Given the description of an element on the screen output the (x, y) to click on. 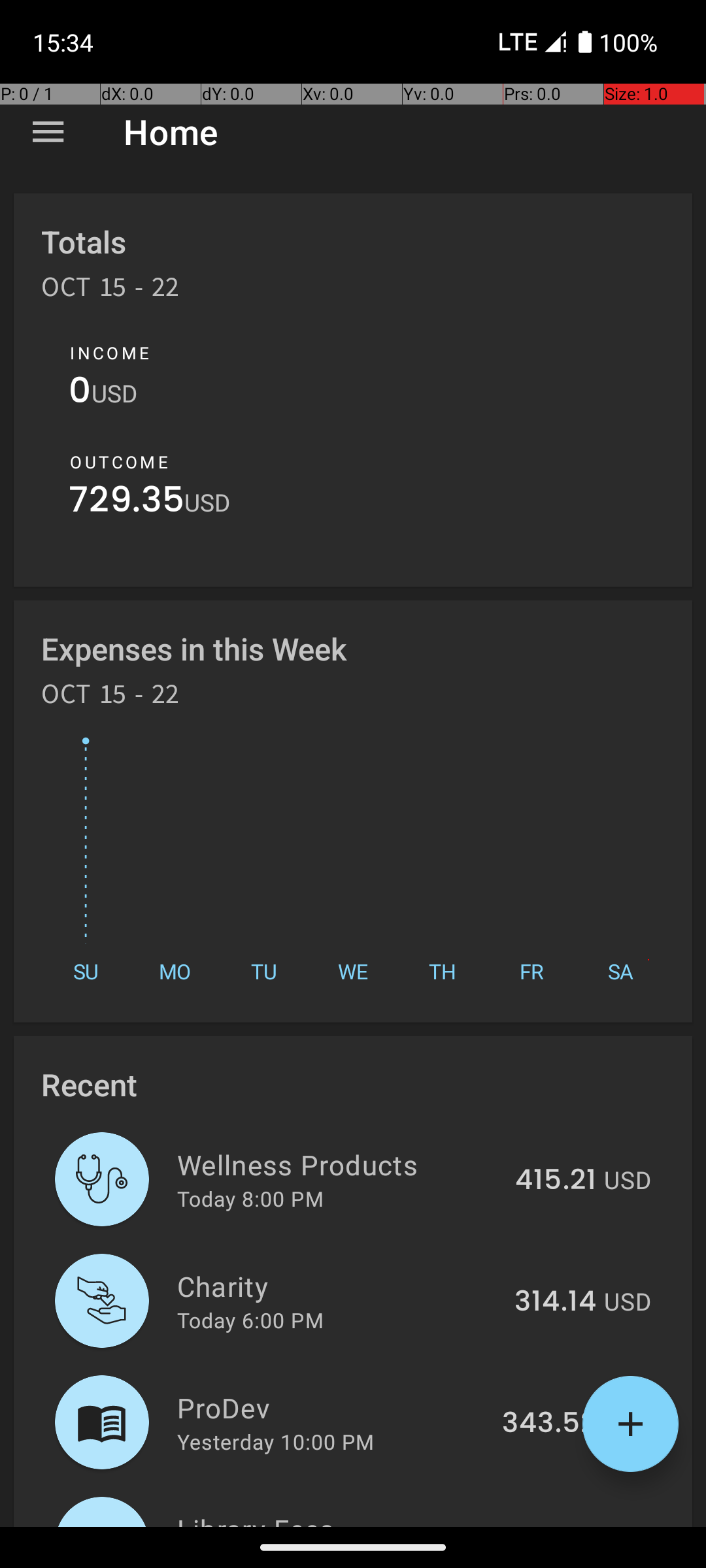
729.35 Element type: android.widget.TextView (126, 502)
Wellness Products Element type: android.widget.TextView (338, 1164)
415.21 Element type: android.widget.TextView (555, 1180)
Charity Element type: android.widget.TextView (338, 1285)
314.14 Element type: android.widget.TextView (554, 1301)
ProDev Element type: android.widget.TextView (331, 1407)
Yesterday 10:00 PM Element type: android.widget.TextView (275, 1441)
343.52 Element type: android.widget.TextView (548, 1423)
181.56 Element type: android.widget.TextView (554, 1524)
